Given the description of an element on the screen output the (x, y) to click on. 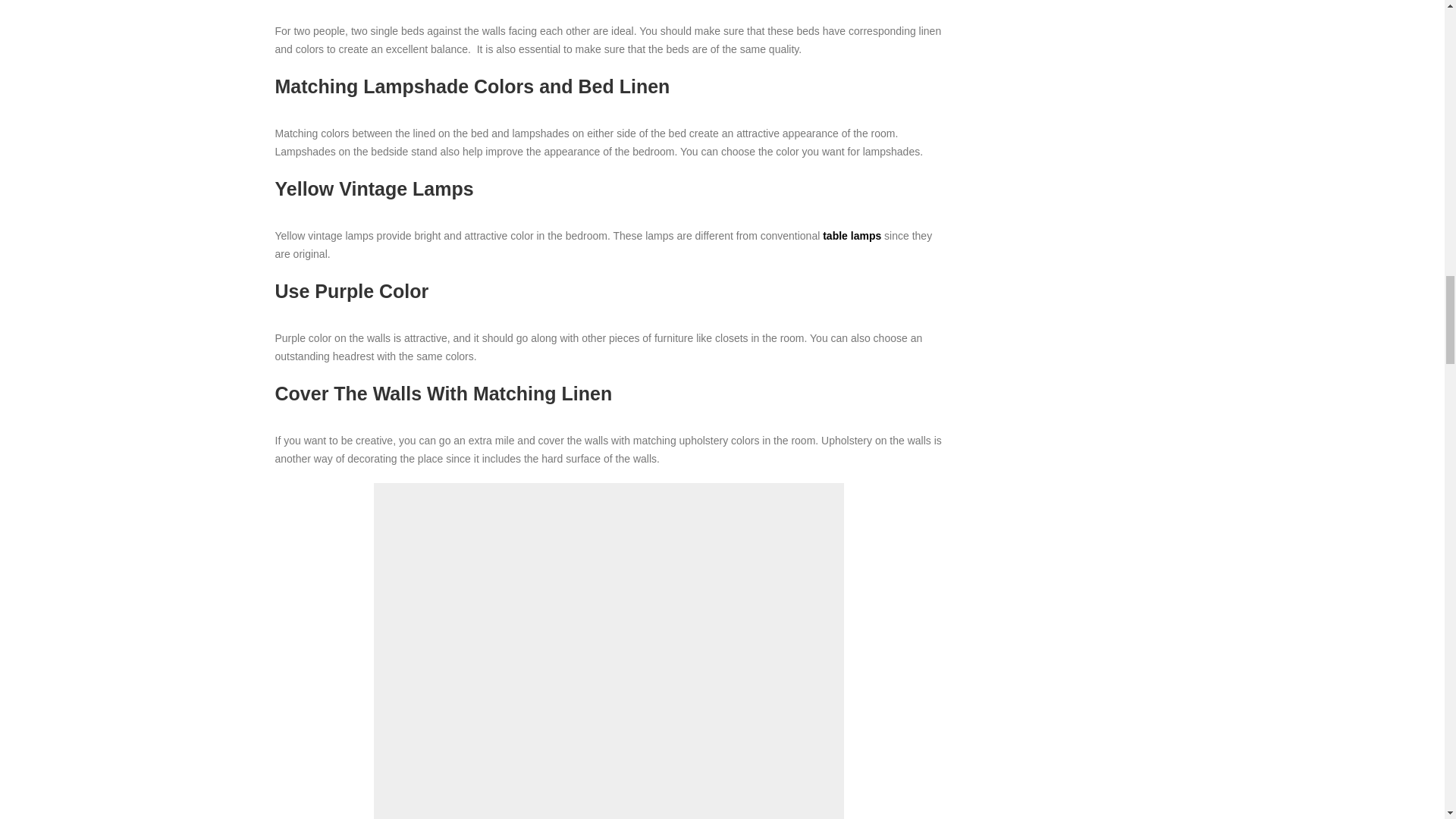
table lamps (851, 235)
